Given the description of an element on the screen output the (x, y) to click on. 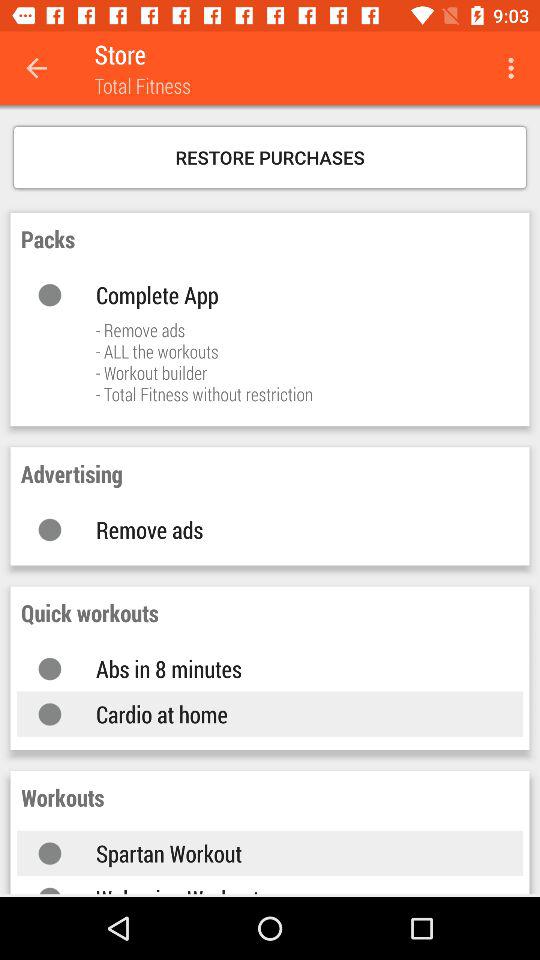
select icon to the left of store app (36, 68)
